Given the description of an element on the screen output the (x, y) to click on. 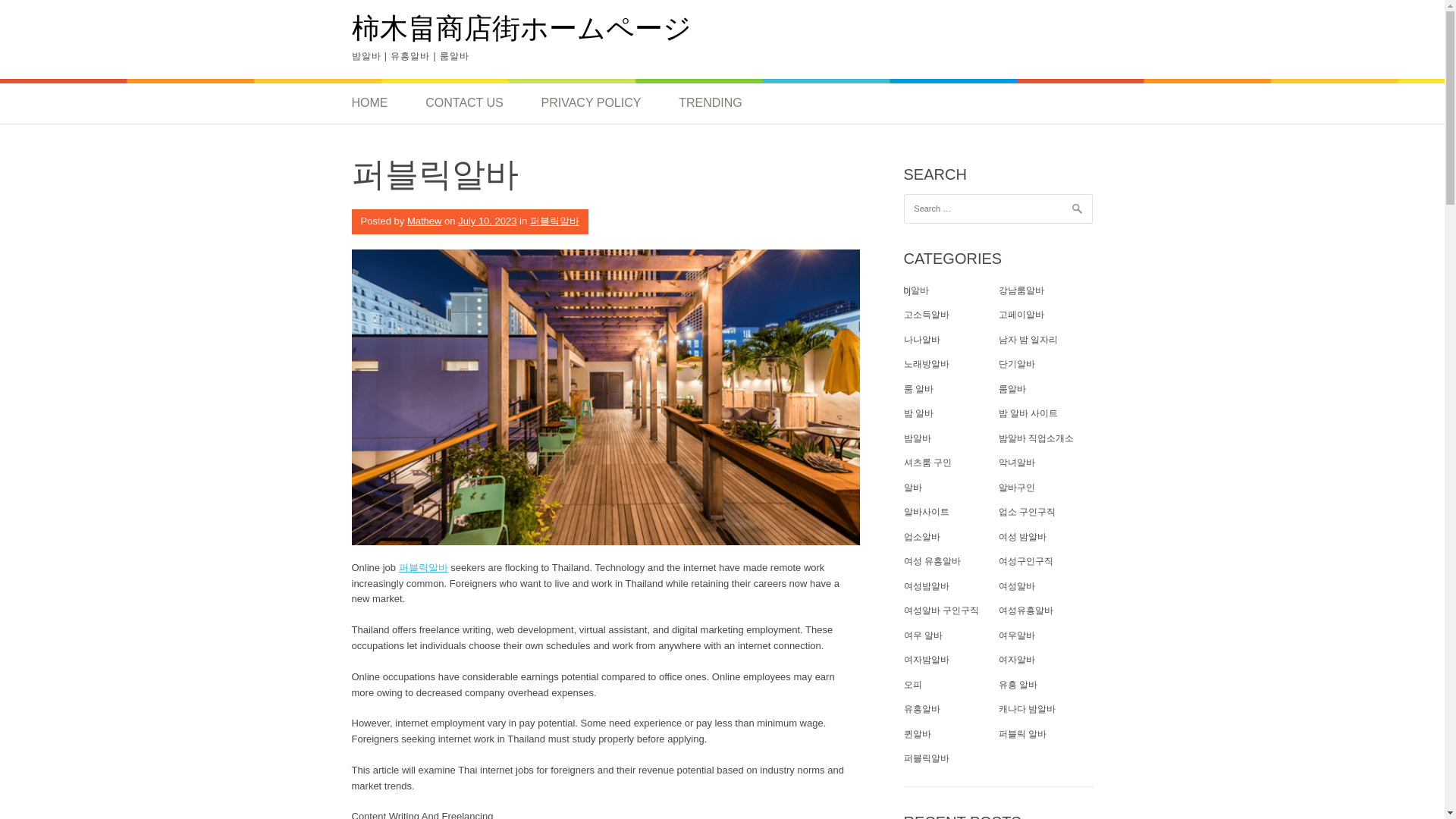
PRIVACY POLICY (590, 102)
HOME (379, 102)
TRENDING (710, 102)
Mathew (424, 220)
CONTACT US (464, 102)
Search (30, 15)
July 10, 2023 (487, 220)
